Given the description of an element on the screen output the (x, y) to click on. 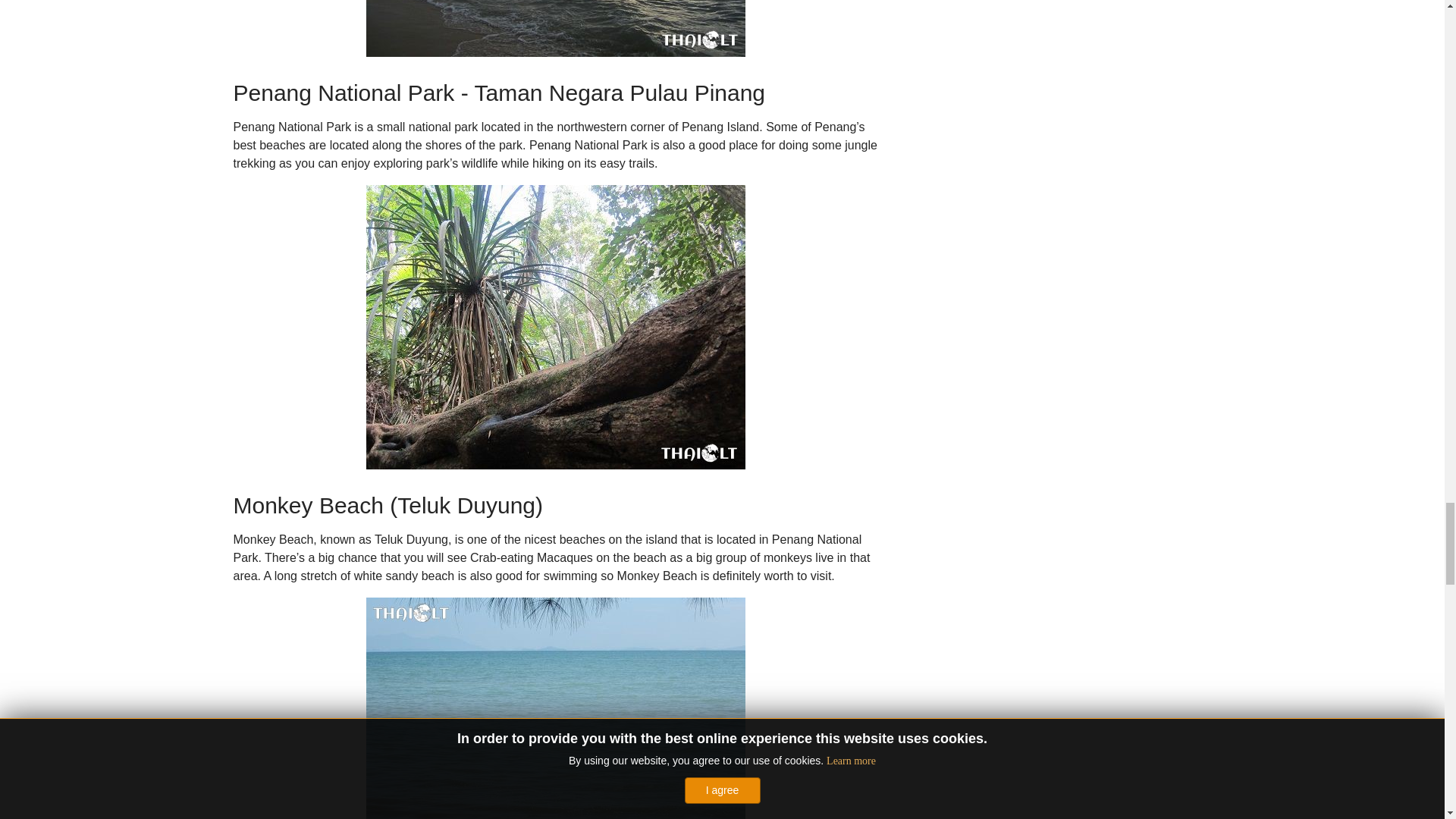
Batu Ferringhi Beach (554, 28)
Penang National Park - Taman Negara Pulau Pinang (554, 327)
